Given the description of an element on the screen output the (x, y) to click on. 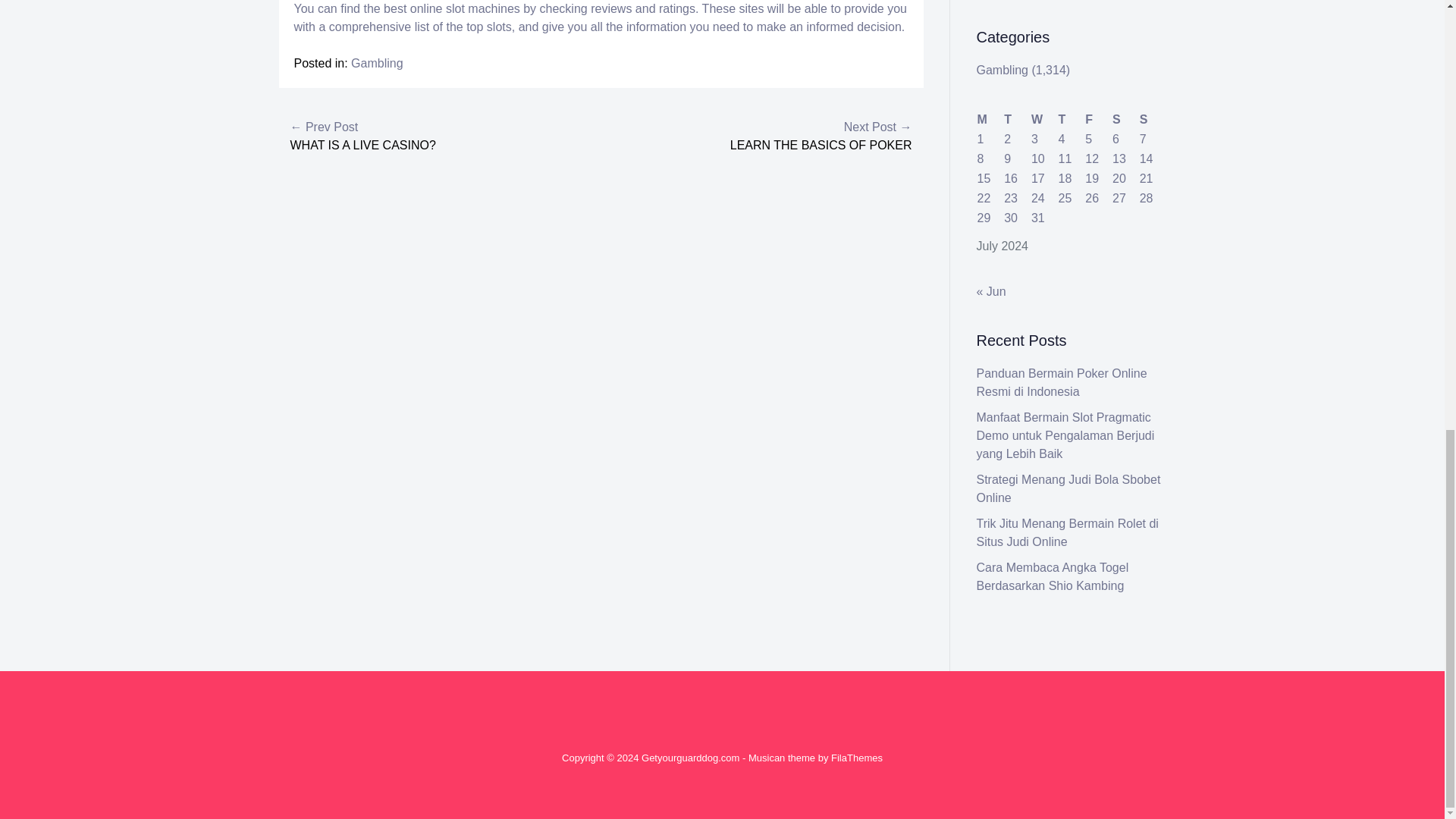
Wednesday (1044, 119)
Thursday (1071, 119)
Saturday (1125, 119)
Gambling (376, 62)
Tuesday (1016, 119)
Monday (990, 119)
Getyourguarddog.com (690, 757)
Sunday (1152, 119)
Friday (1098, 119)
